Given the description of an element on the screen output the (x, y) to click on. 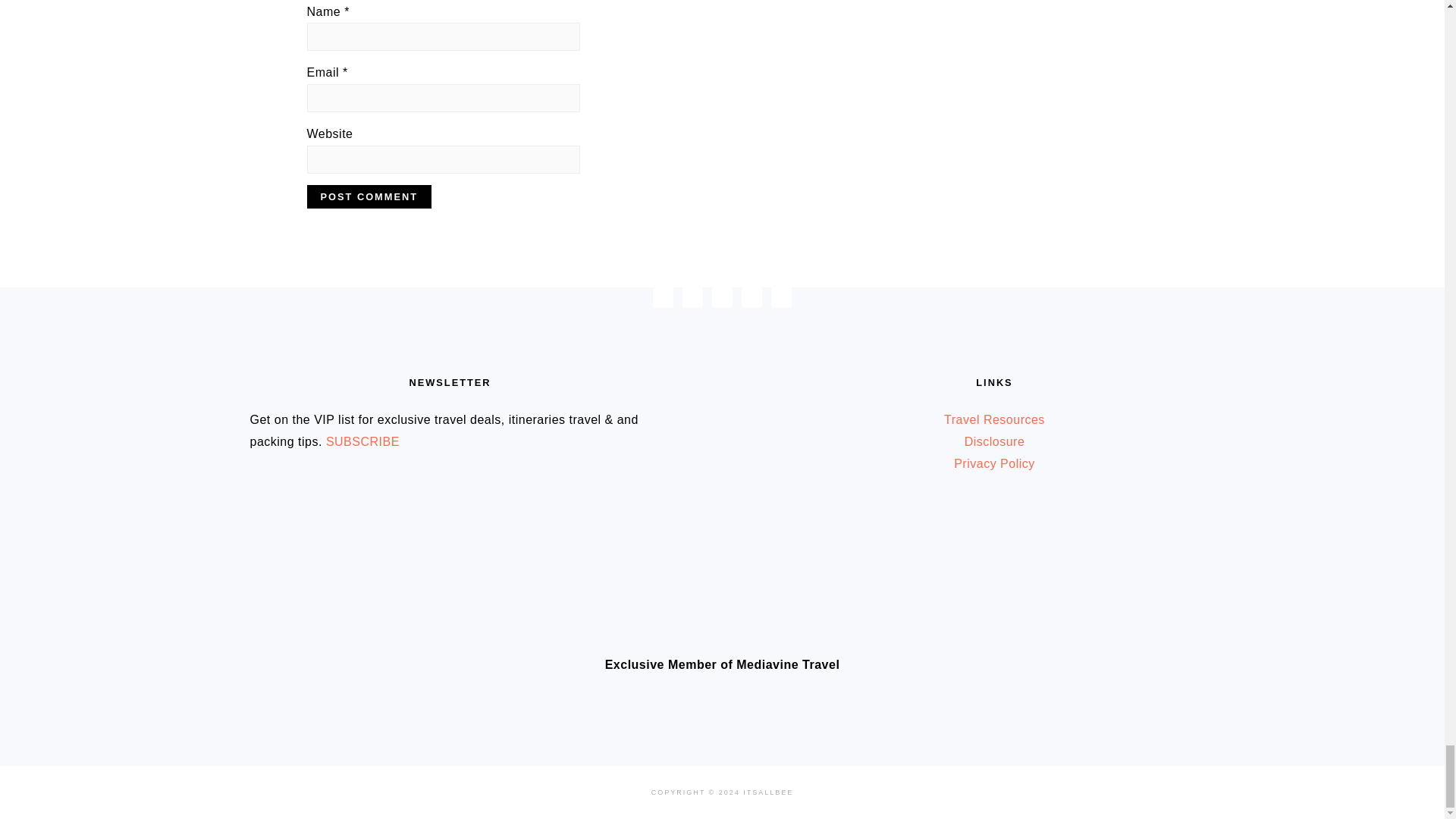
Post Comment (367, 196)
